Given the description of an element on the screen output the (x, y) to click on. 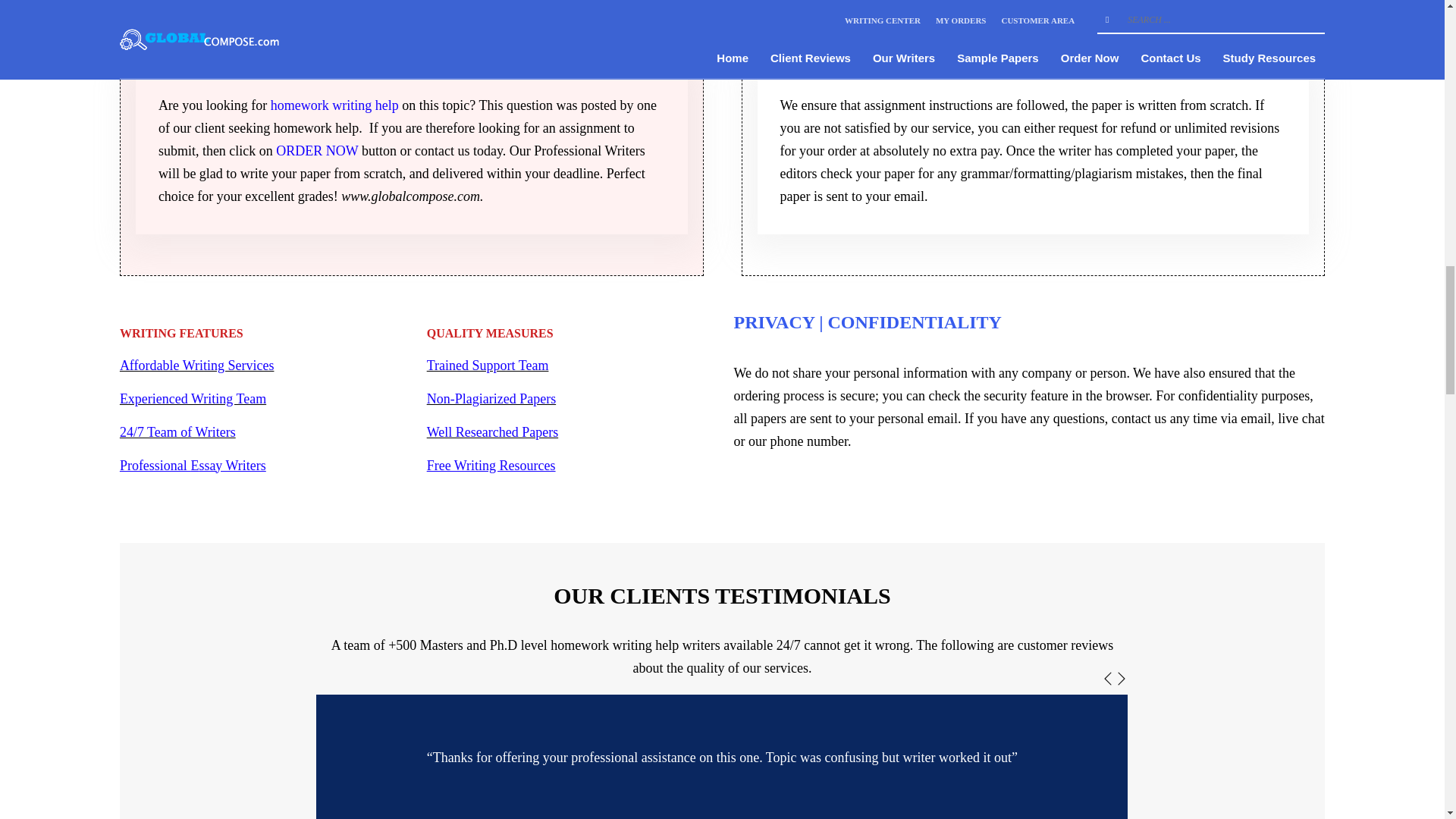
Professional Essay Writers (192, 465)
Trained Support Team (487, 365)
Well Researched Papers (491, 432)
Experienced Writing Team (192, 398)
Non-Plagiarized Papers (491, 398)
homework writing help (334, 105)
Affordable Writing Services (197, 365)
Free Writing Resources (491, 465)
ORDER NOW (317, 150)
